Given the description of an element on the screen output the (x, y) to click on. 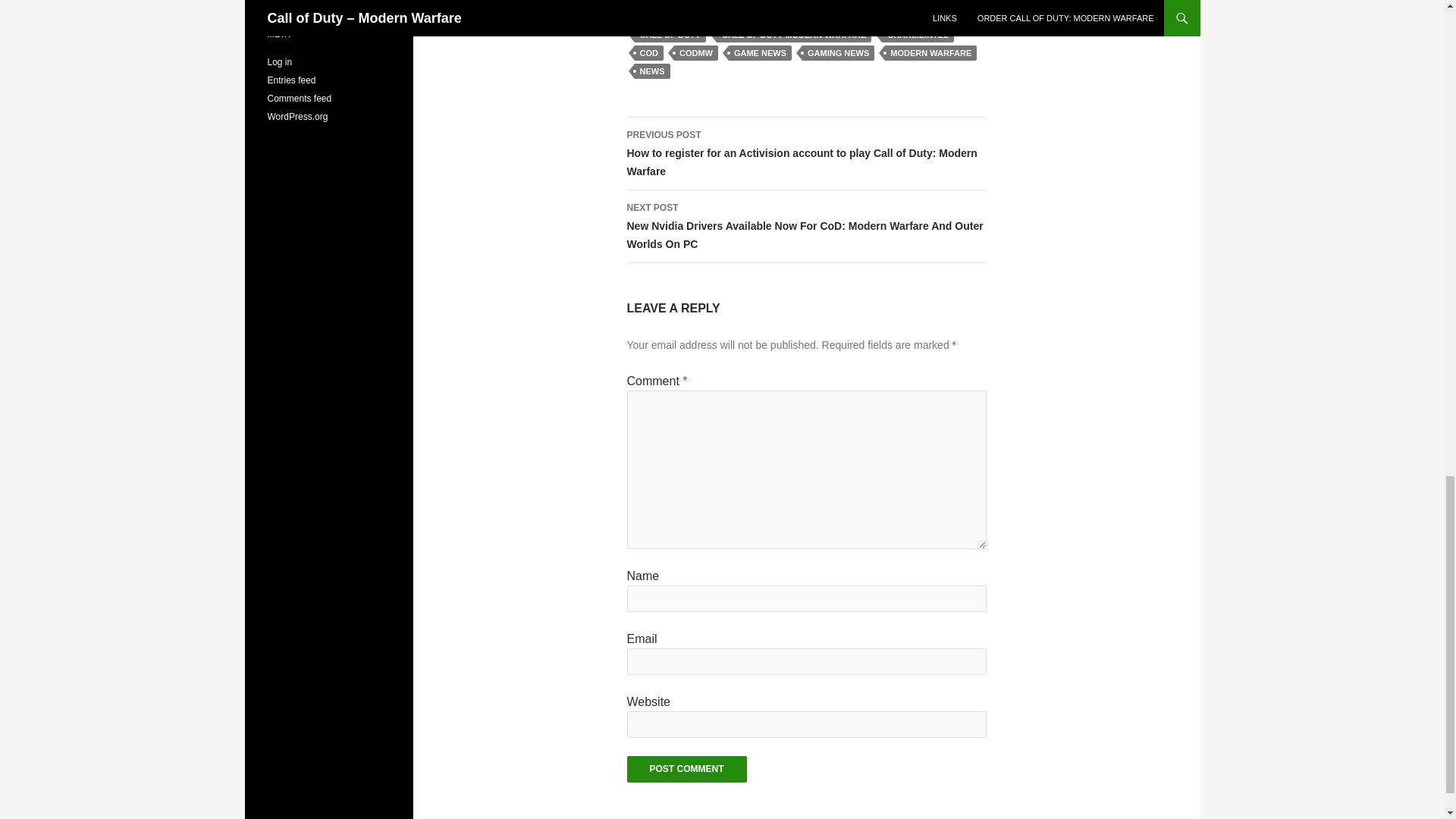
GAME NEWS (760, 52)
GAMING NEWS (838, 52)
COD (647, 52)
CODMW (695, 52)
Post Comment (685, 768)
NEWS (651, 70)
Post Comment (685, 768)
CALL OF DUTY MODERN WARFARE (793, 34)
